Given the description of an element on the screen output the (x, y) to click on. 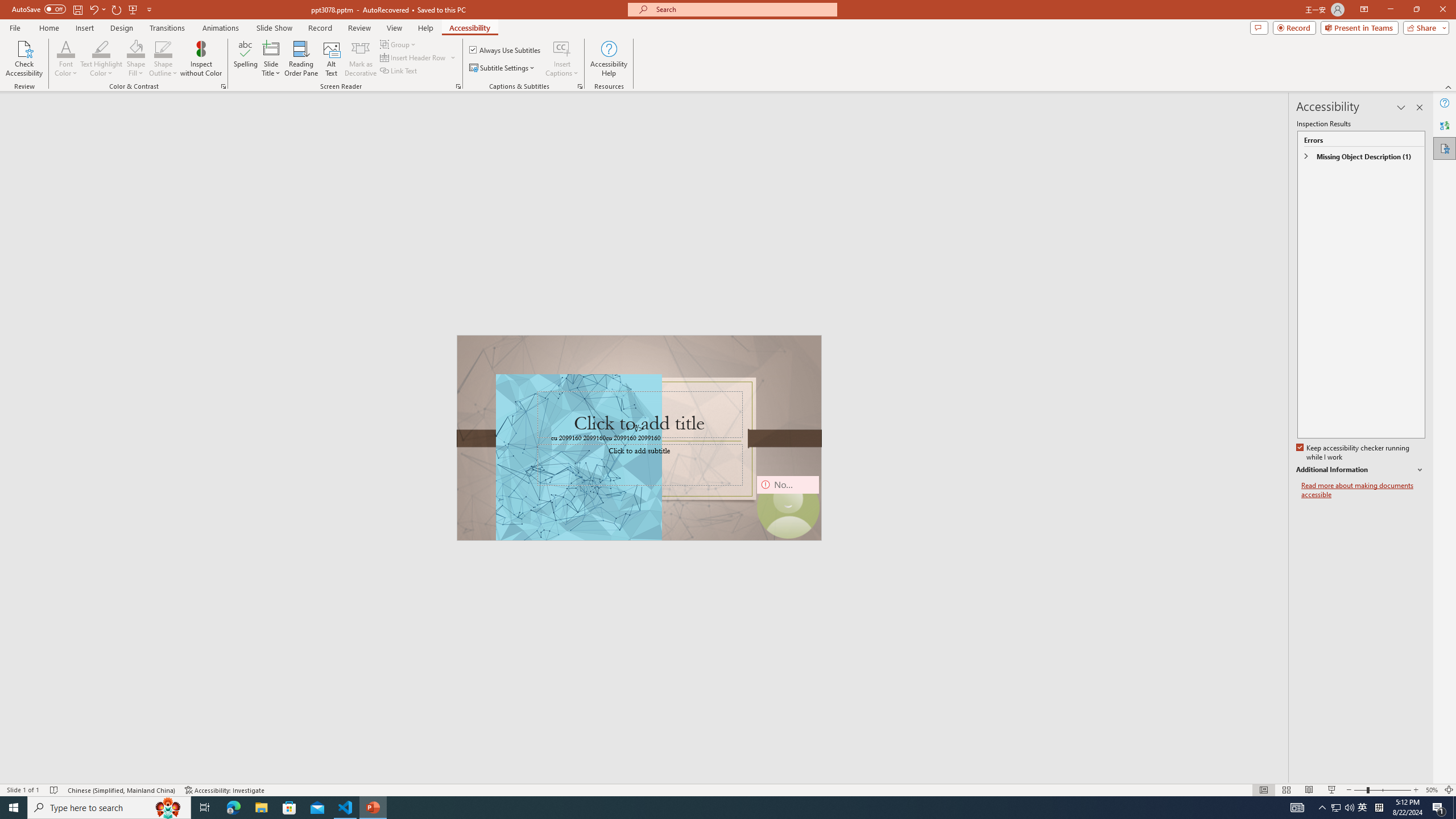
Slide Title (271, 58)
Keep accessibility checker running while I work (1353, 452)
Always Use Subtitles (505, 49)
Captions & Subtitles (580, 85)
Color & Contrast (223, 85)
Title TextBox (639, 414)
Accessibility Help (608, 58)
Group (398, 44)
